Given the description of an element on the screen output the (x, y) to click on. 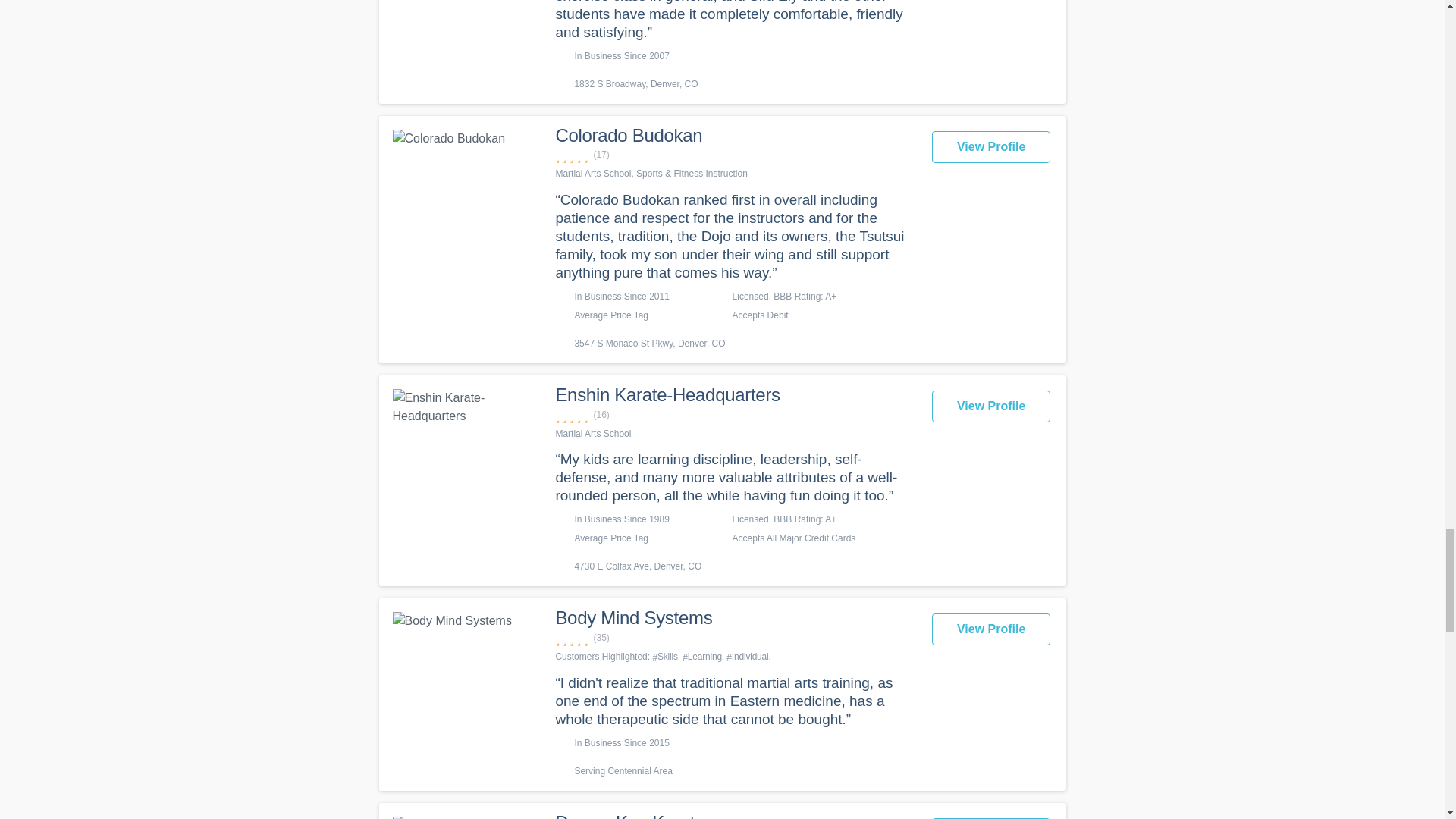
4.9 (734, 155)
4.8 (734, 414)
5.0 (734, 637)
